Given the description of an element on the screen output the (x, y) to click on. 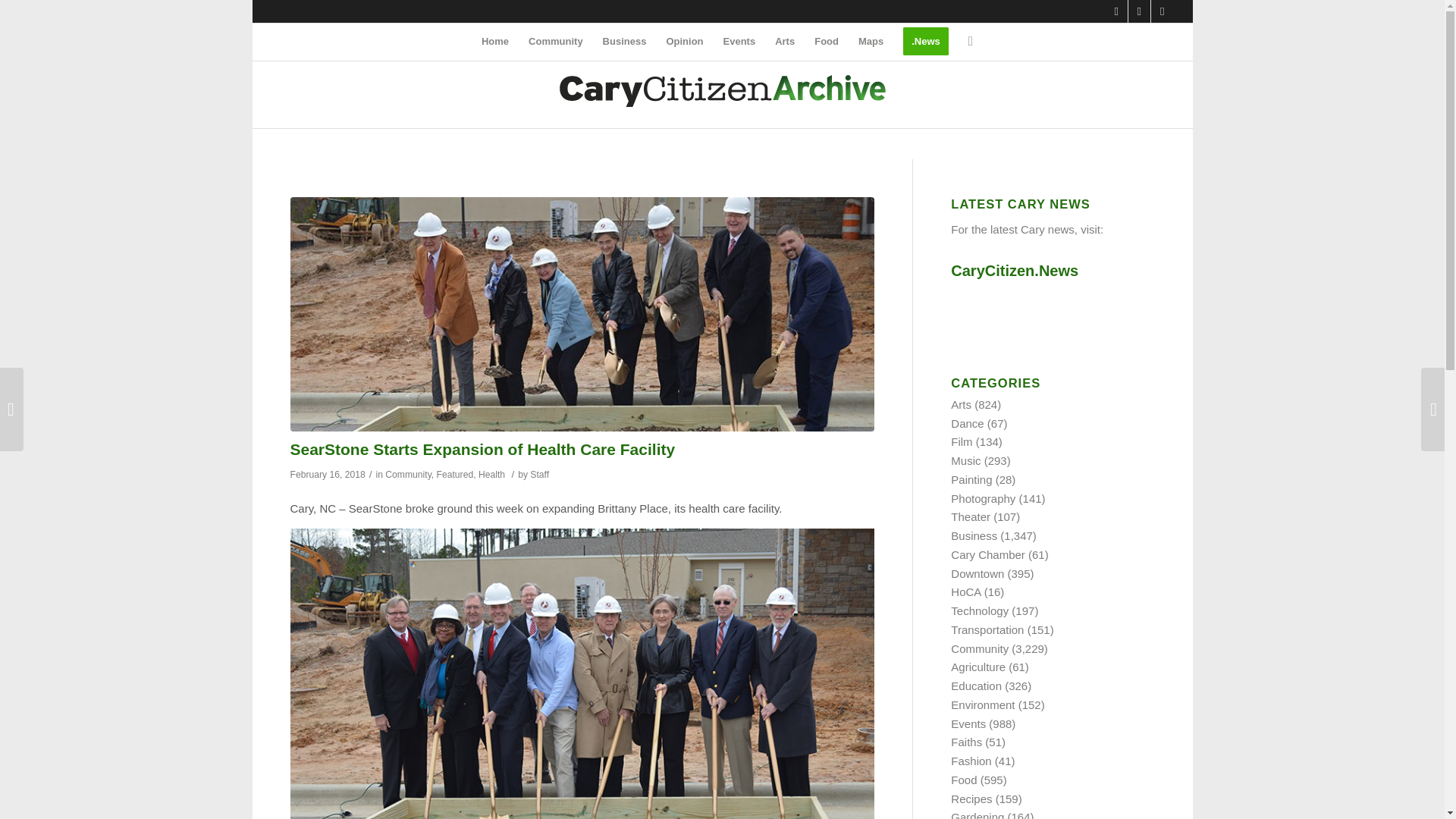
Events (739, 41)
Home (494, 41)
Staff (538, 474)
Arts (785, 41)
Maps (870, 41)
Opinion (684, 41)
Health (492, 474)
Community (555, 41)
Community (407, 474)
Business (624, 41)
Posts by Staff (538, 474)
SearStone Starts Expansion of Health Care Facility (482, 448)
Food (826, 41)
